Given the description of an element on the screen output the (x, y) to click on. 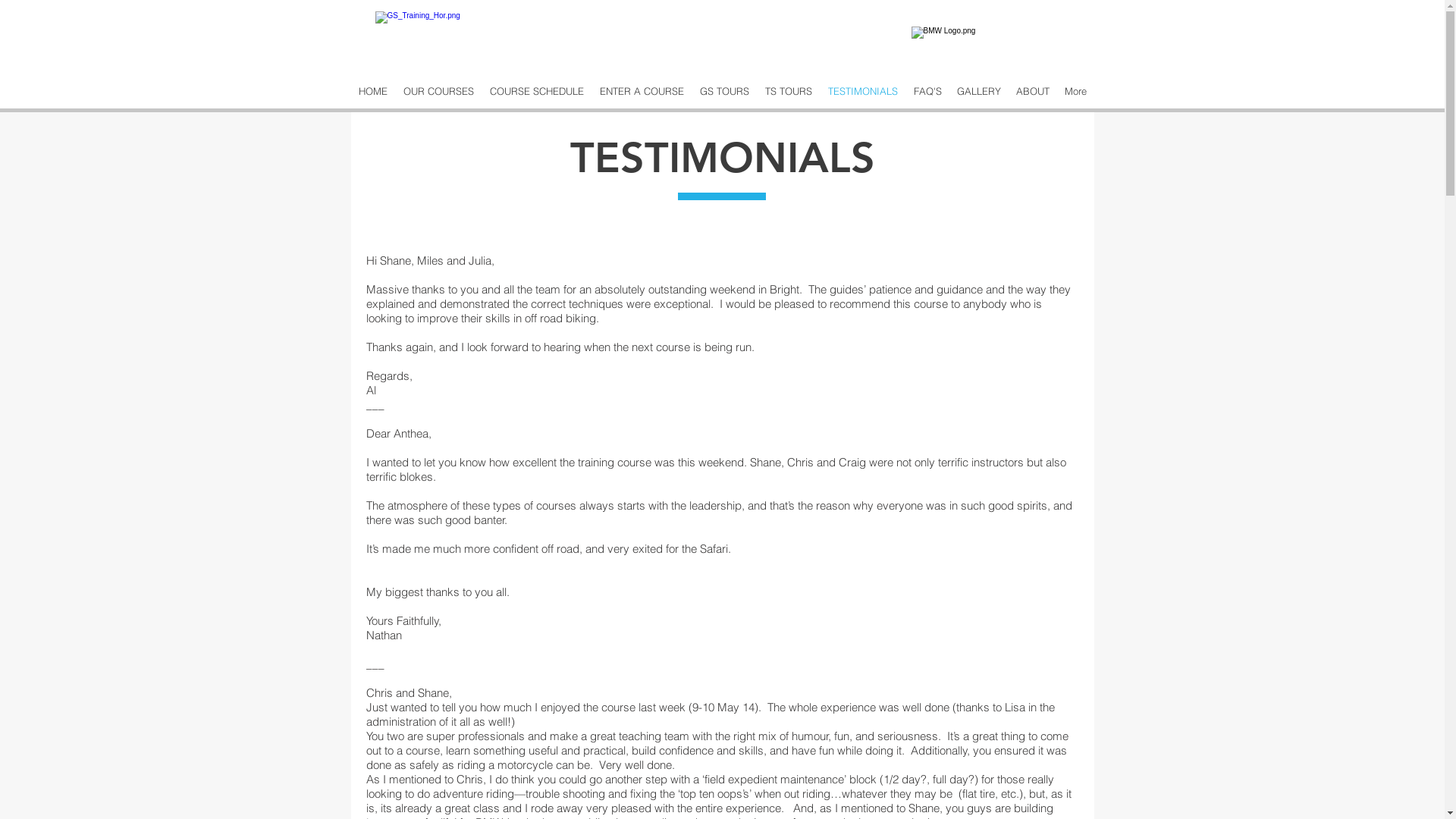
COURSE SCHEDULE Element type: text (537, 91)
FAQ'S Element type: text (926, 91)
ABOUT Element type: text (1032, 91)
GS TOURS Element type: text (723, 91)
TS TOURS Element type: text (787, 91)
HOME Element type: text (372, 91)
OUR COURSES Element type: text (438, 91)
GALLERY Element type: text (978, 91)
ENTER A COURSE Element type: text (641, 91)
TESTIMONIALS Element type: text (863, 91)
